Given the description of an element on the screen output the (x, y) to click on. 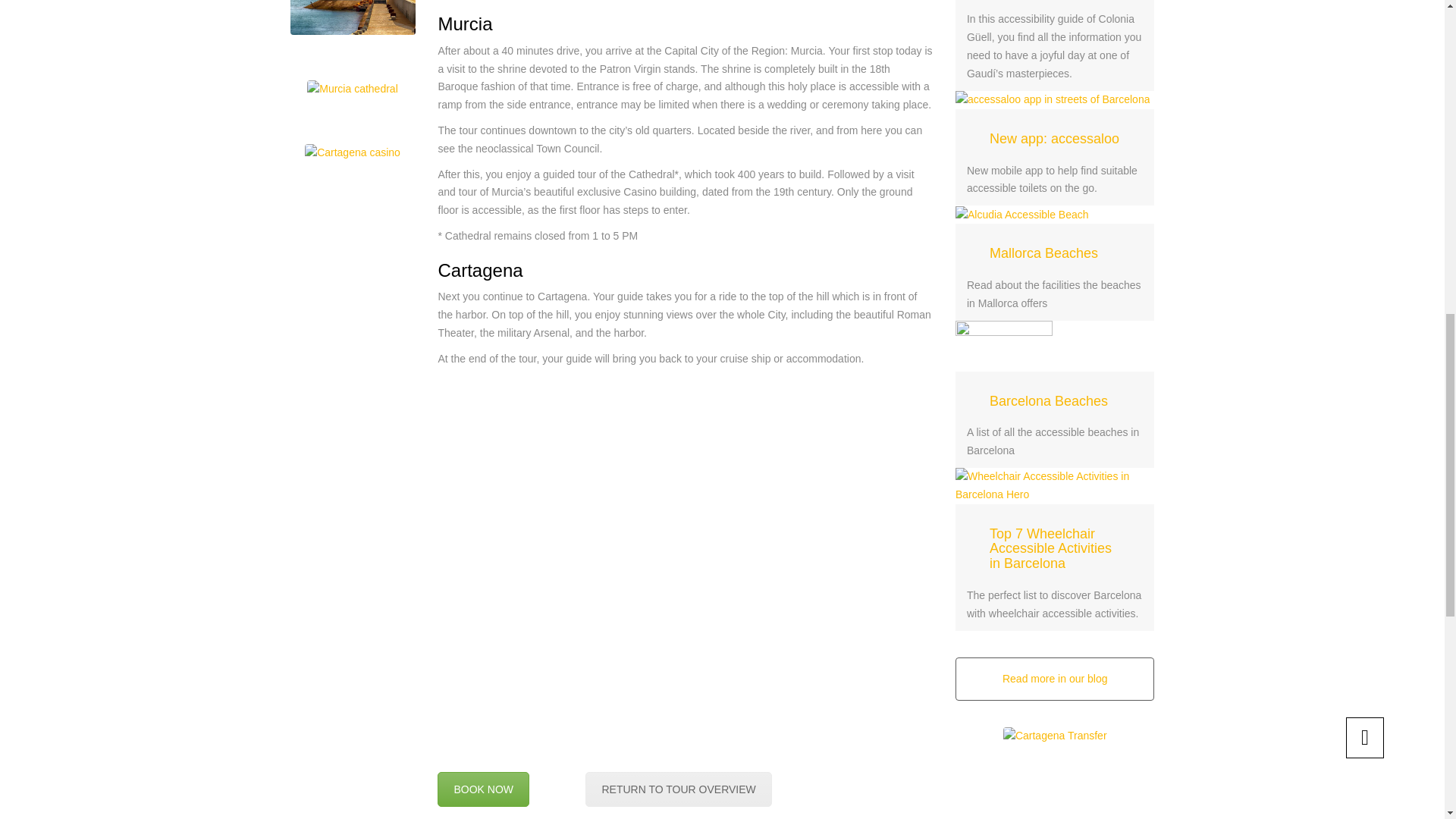
Permalink to Mallorca Beaches (1043, 253)
Wheelchair Accessible Activities in Barcelona Hero (1054, 485)
Permalink to New app: accessaloo (1054, 138)
Permalink to New app: accessaloo (1052, 99)
Permalink to Barcelona Beaches (1003, 345)
Person holding an mobile device with accessaloo app open (1052, 99)
Cartagena casino (352, 153)
Alcudia Accessible Beach (1022, 215)
Permalink to Barcelona Beaches (1049, 400)
